Given the description of an element on the screen output the (x, y) to click on. 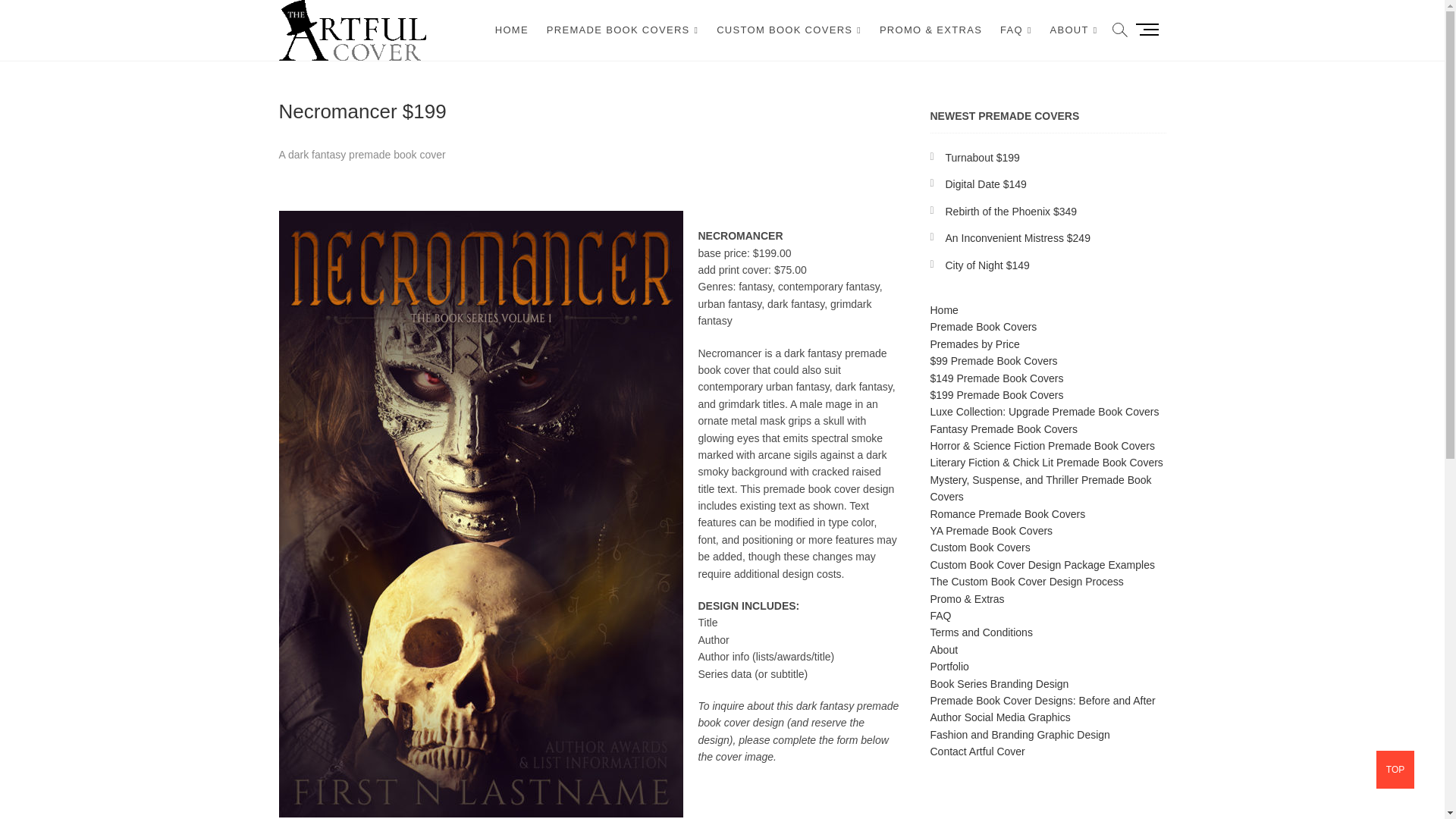
Menu Button (1150, 29)
ABOUT (1073, 30)
The Artful Cover (530, 25)
The Artful Cover (530, 25)
PREMADE BOOK COVERS (622, 30)
CUSTOM BOOK COVERS (789, 30)
